Given the description of an element on the screen output the (x, y) to click on. 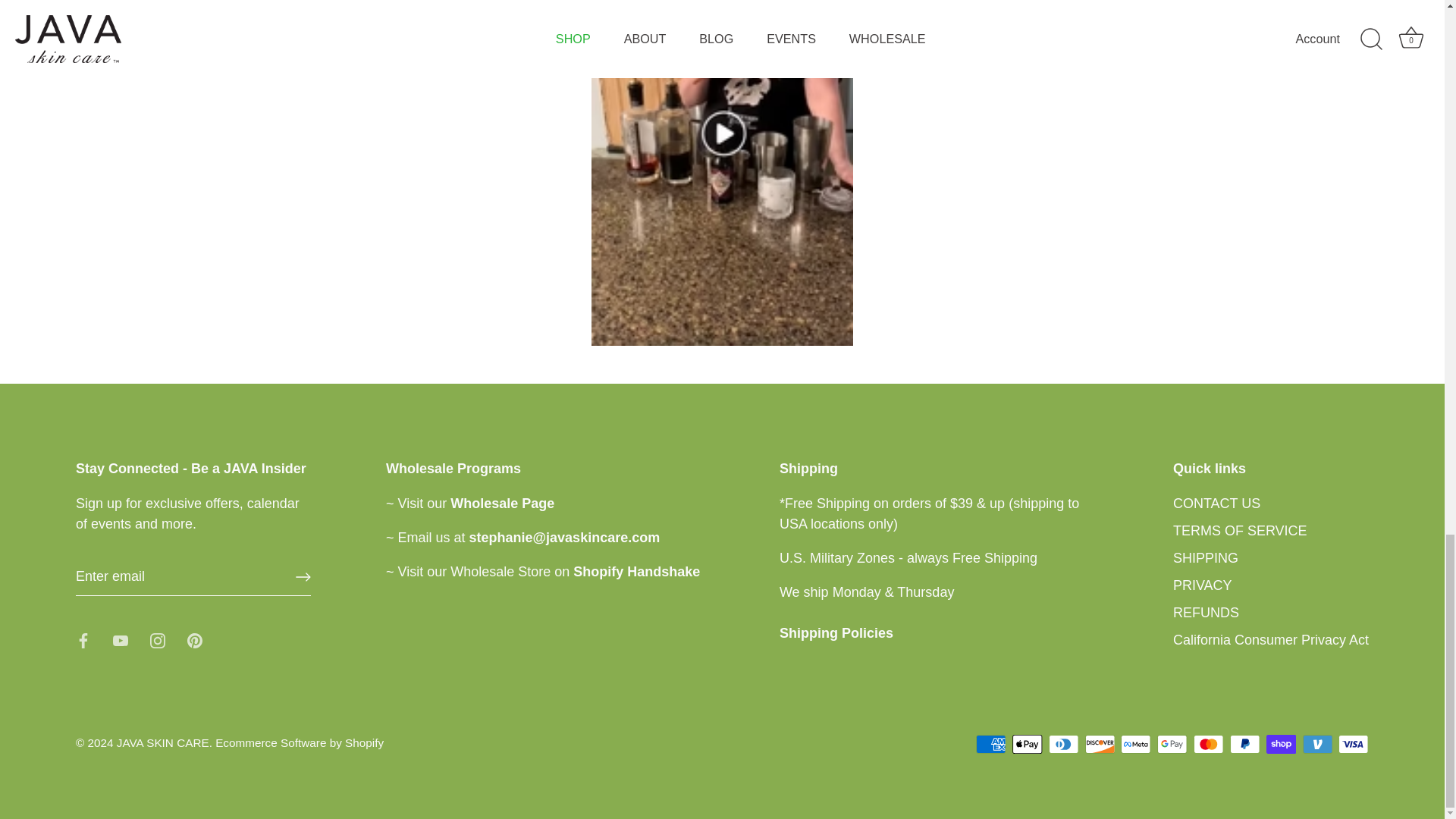
Discover (1099, 743)
Instagram (157, 640)
American Express (990, 743)
RIGHT ARROW LONG (303, 576)
PayPal (1244, 743)
Apple Pay (1026, 743)
Diners Club (1063, 743)
Mastercard (1208, 743)
Meta Pay (1135, 743)
Google Pay (1171, 743)
